Given the description of an element on the screen output the (x, y) to click on. 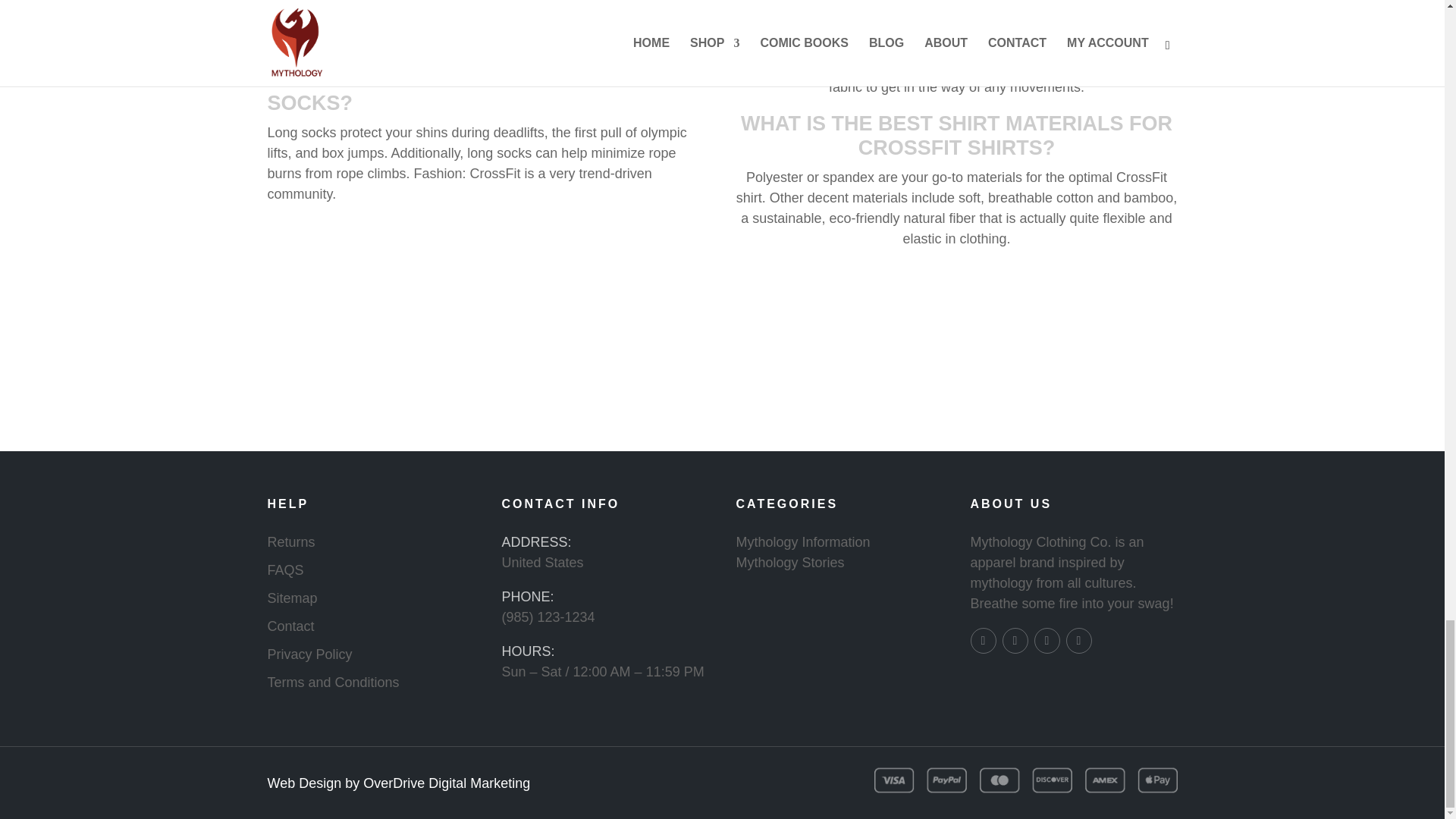
Follow on Instagram (1015, 640)
Privacy Policy (309, 654)
Terms and Conditions (332, 682)
Sitemap (291, 598)
Web Design (303, 783)
payment (1024, 780)
Follow on Pinterest (1078, 640)
Mythology Information (802, 541)
Follow on X (1046, 640)
ABOUT US (1011, 503)
Follow on Facebook (983, 640)
